Given the description of an element on the screen output the (x, y) to click on. 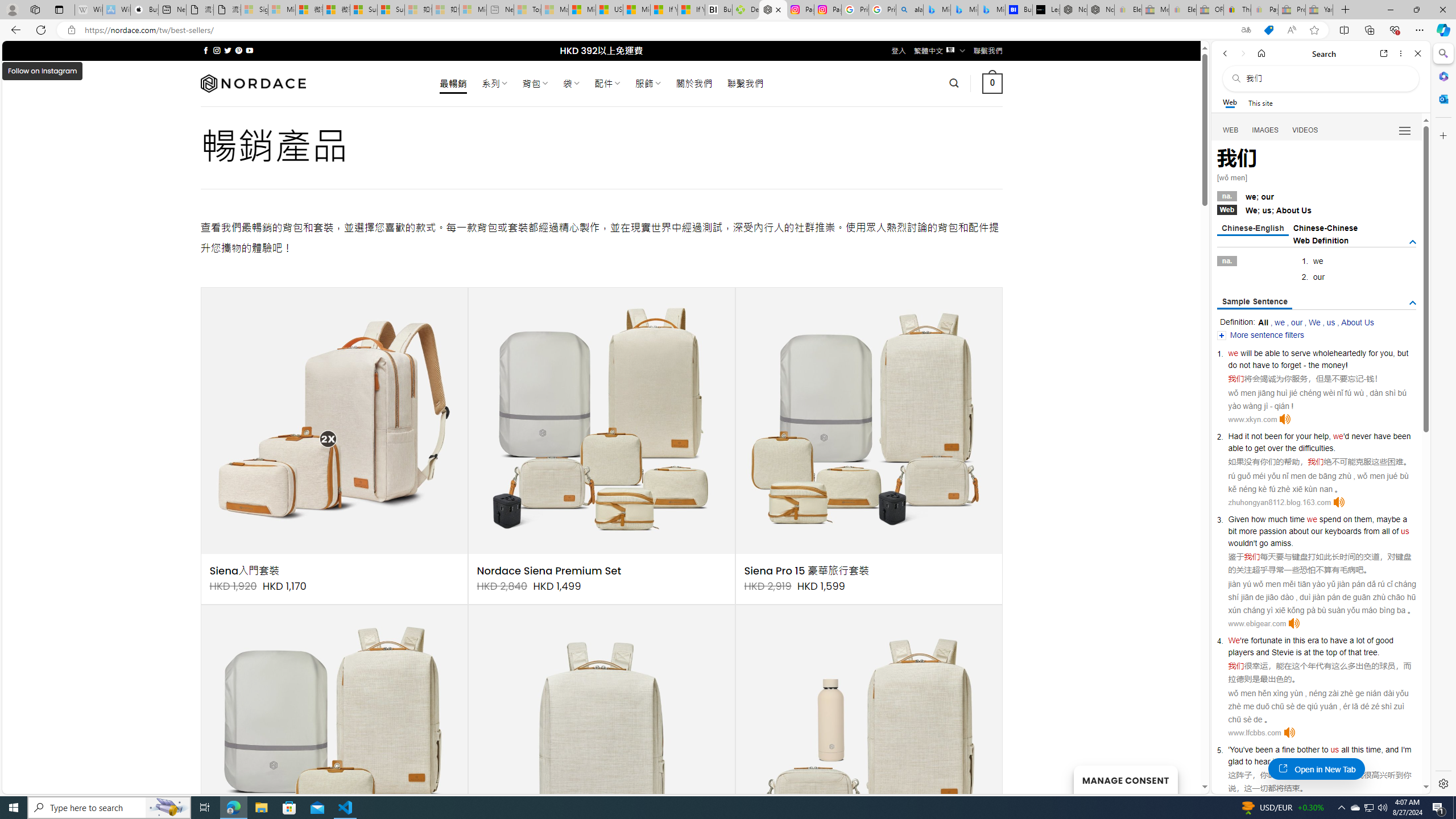
Nordace Siena Premium Set (548, 571)
good (1384, 640)
Chinese-Chinese (1325, 227)
